Given the description of an element on the screen output the (x, y) to click on. 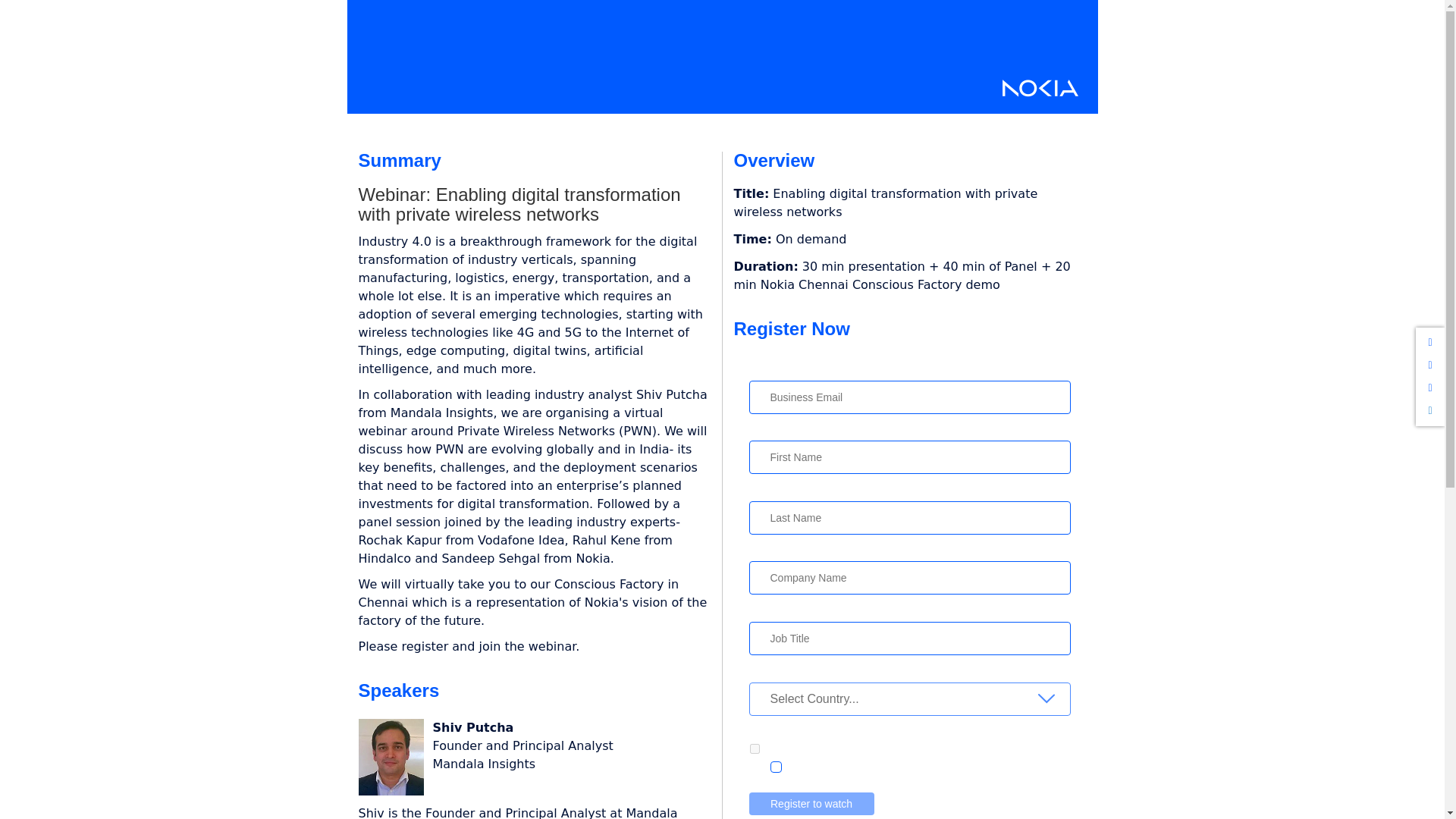
Register to watch (812, 803)
yes (754, 748)
